Given the description of an element on the screen output the (x, y) to click on. 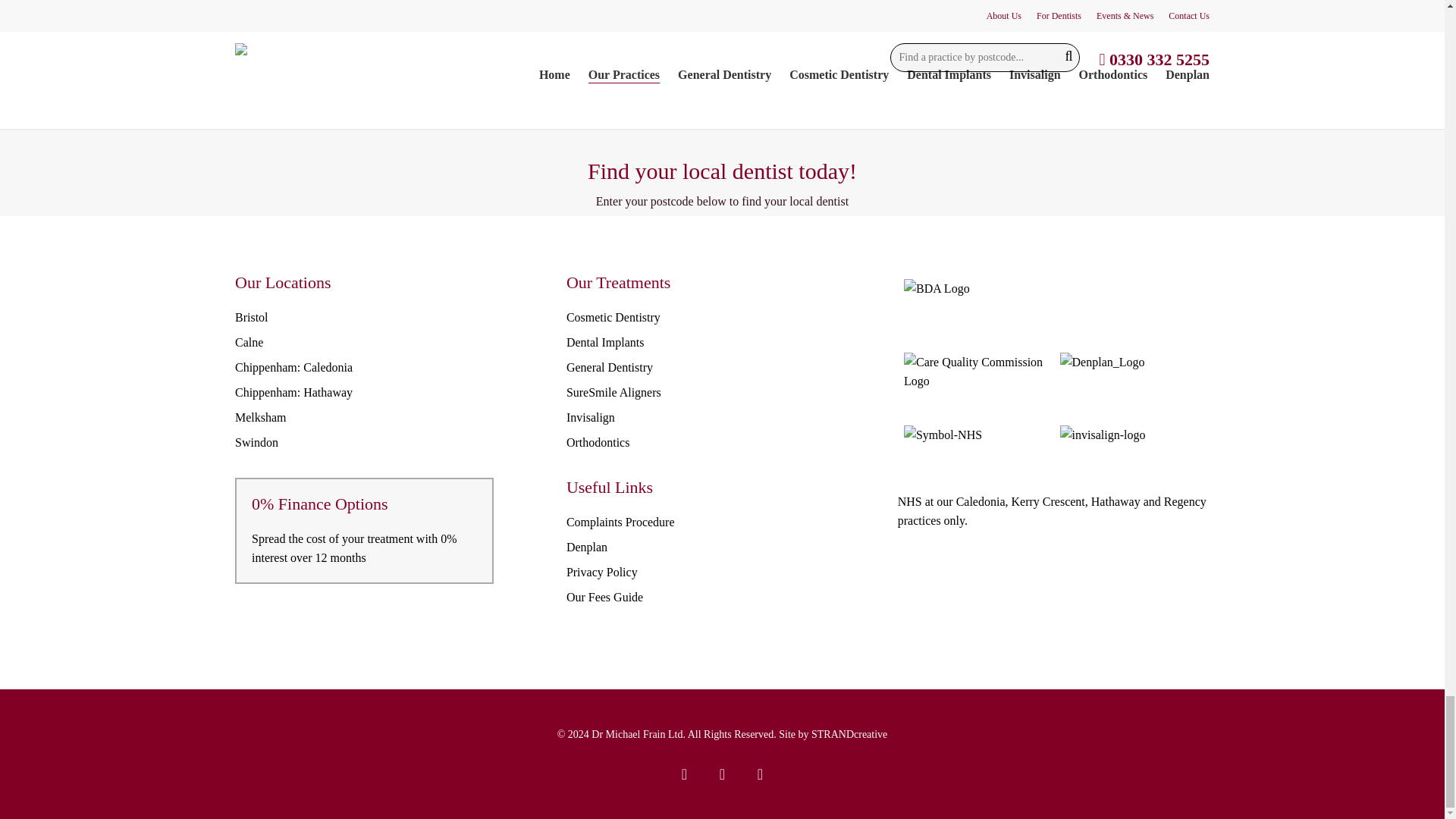
Bristol (250, 317)
Calne (248, 341)
